Given the description of an element on the screen output the (x, y) to click on. 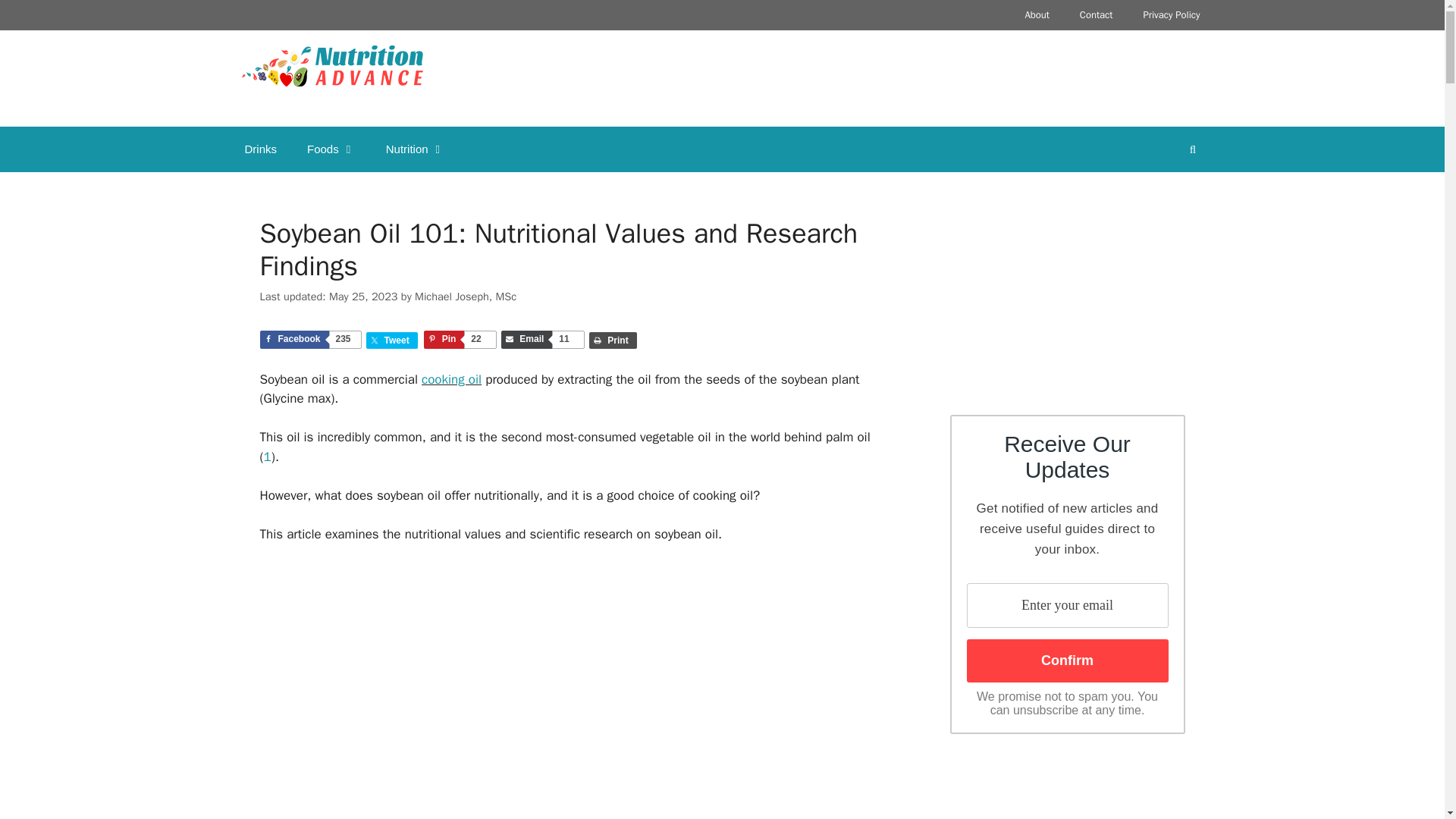
Privacy Policy (459, 339)
Foods (1170, 15)
View all posts by Michael Joseph, MSc (331, 148)
Share on Pinterest (465, 296)
Share on Twitter (459, 339)
Michael Joseph, MSc (391, 340)
Drinks (465, 296)
Nutrition (260, 148)
